Given the description of an element on the screen output the (x, y) to click on. 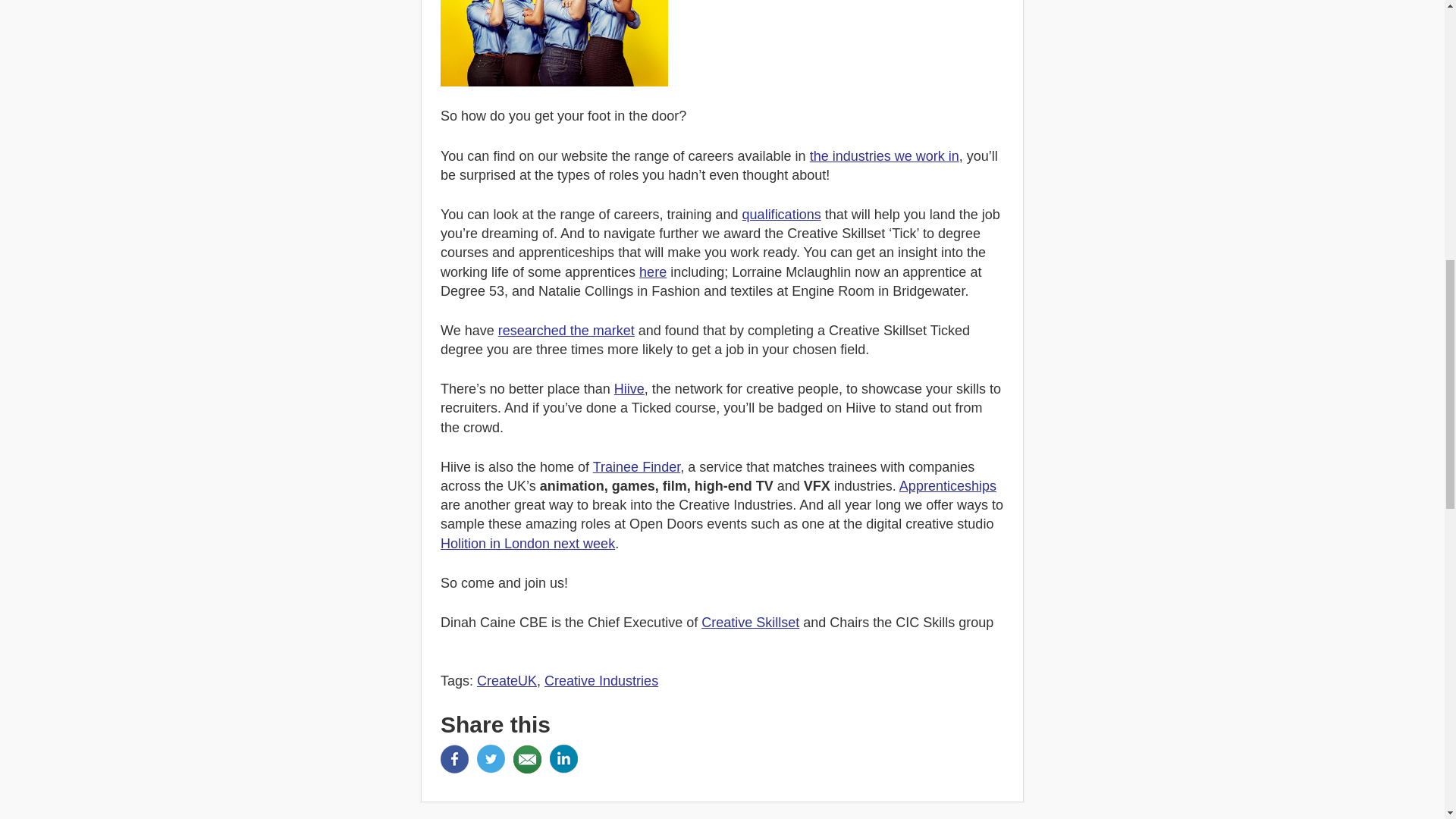
researched the market (565, 330)
here (652, 271)
Creative Skillset (750, 622)
Hiive (629, 388)
Trainee Finder (635, 467)
CreateUK (507, 680)
Apprenticeships (947, 485)
Holition in London next week (527, 543)
qualifications (781, 214)
Creative Industries (601, 680)
the industries we work in (884, 155)
